Given the description of an element on the screen output the (x, y) to click on. 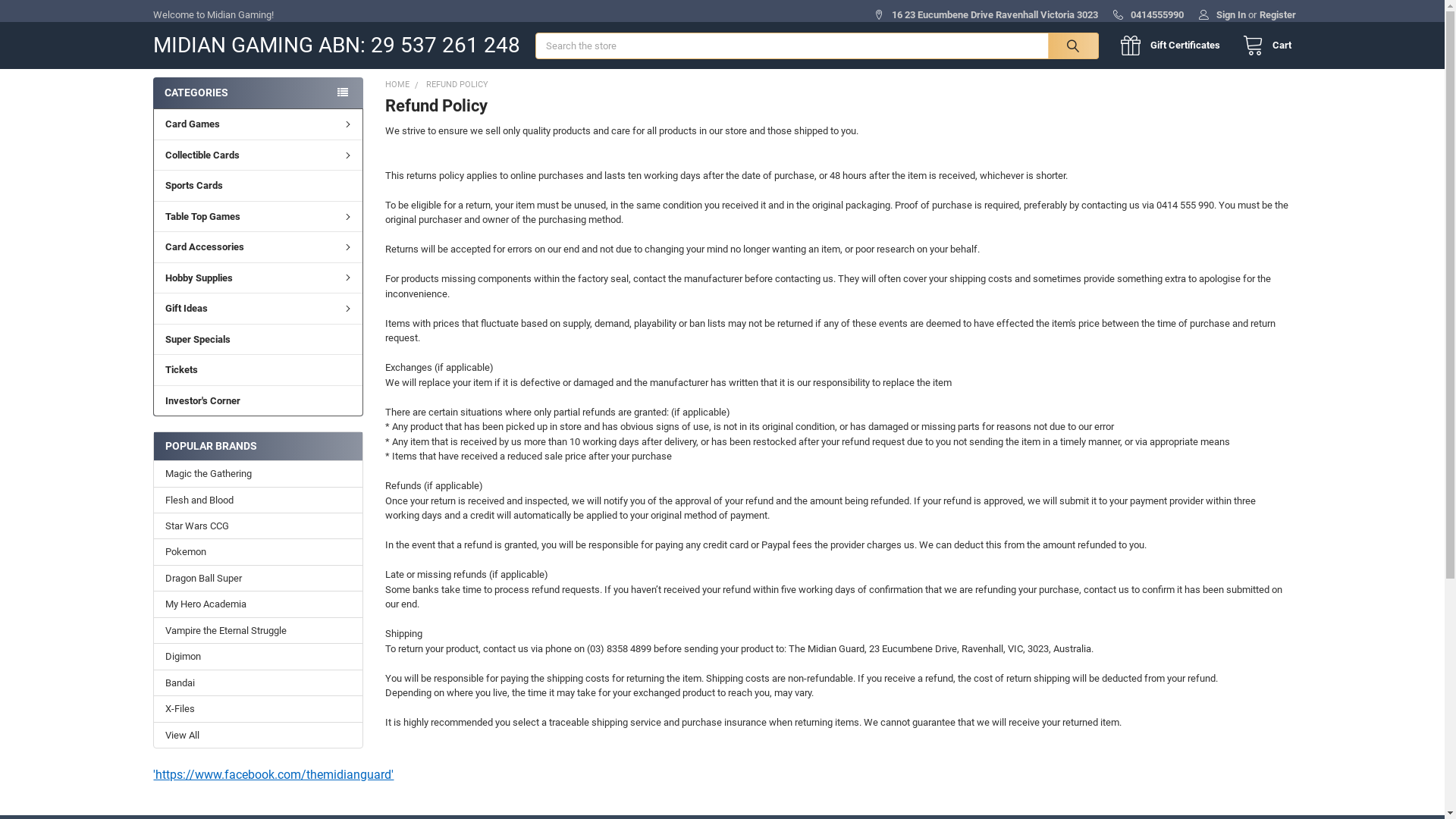
View All Element type: text (257, 735)
Investor's Corner Element type: text (257, 400)
0414555990 Element type: text (1148, 10)
Register Element type: text (1277, 10)
Table Top Games Element type: text (257, 215)
Dragon Ball Super Element type: text (257, 578)
Vampire the Eternal Struggle Element type: text (257, 630)
Collectible Cards Element type: text (257, 154)
X-Files Element type: text (257, 708)
Card Accessories Element type: text (257, 246)
Bandai Element type: text (257, 682)
Sign In Element type: text (1222, 10)
Digimon Element type: text (257, 656)
CATEGORIES Element type: text (257, 92)
HOME Element type: text (397, 84)
Flesh and Blood Element type: text (257, 500)
Tickets Element type: text (257, 369)
Card Games Element type: text (257, 123)
Pokemon Element type: text (257, 551)
Gift Ideas Element type: text (257, 307)
Super Specials Element type: text (257, 338)
Hobby Supplies Element type: text (257, 277)
MIDIAN GAMING ABN: 29 537 261 248 Element type: text (336, 77)
Star Wars CCG Element type: text (257, 525)
Cart Element type: text (1263, 45)
Search Element type: text (1069, 45)
Sports Cards Element type: text (257, 184)
Magic the Gathering Element type: text (257, 473)
My Hero Academia Element type: text (257, 603)
'https://www.facebook.com/themidianguard' Element type: text (273, 774)
REFUND POLICY Element type: text (457, 84)
Gift Certificates Element type: text (1173, 45)
